Given the description of an element on the screen output the (x, y) to click on. 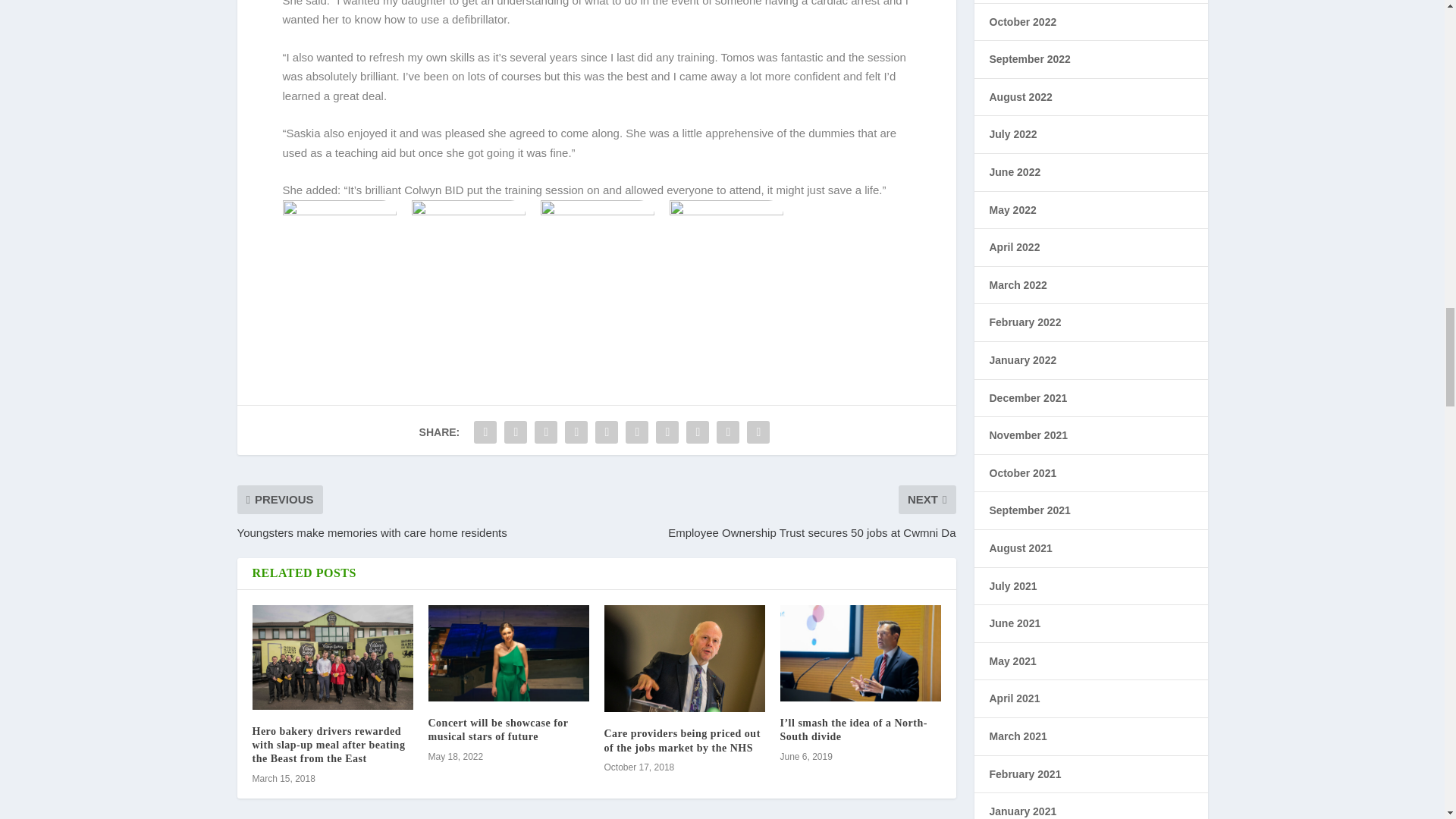
Concert will be showcase for musical stars of future (508, 653)
Concert will be showcase for musical stars of future (497, 729)
